Given the description of an element on the screen output the (x, y) to click on. 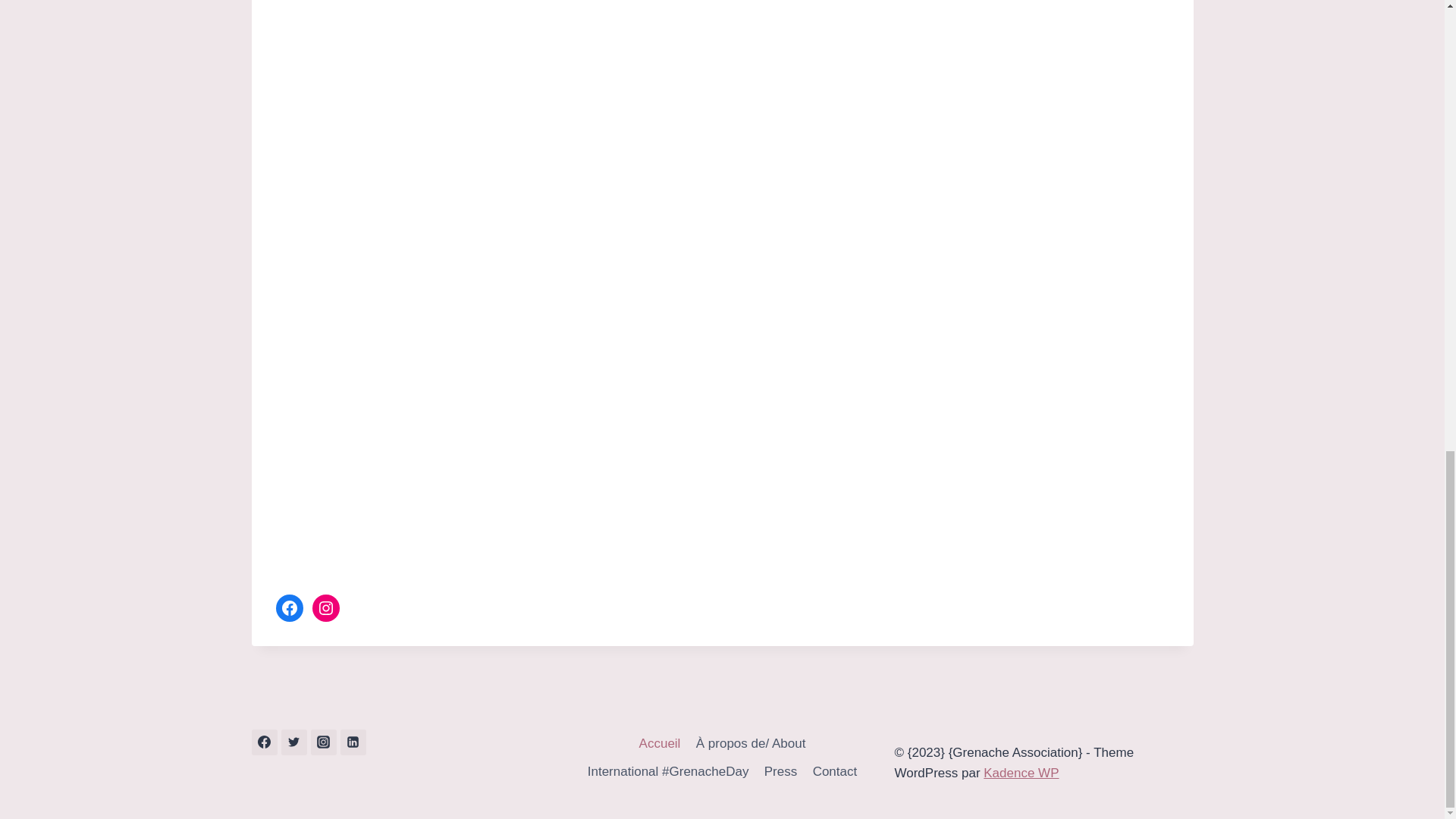
Facebook (289, 607)
Press (781, 771)
Instagram (326, 607)
Accueil (658, 743)
Contact (834, 771)
Kadence WP (1021, 772)
